Given the description of an element on the screen output the (x, y) to click on. 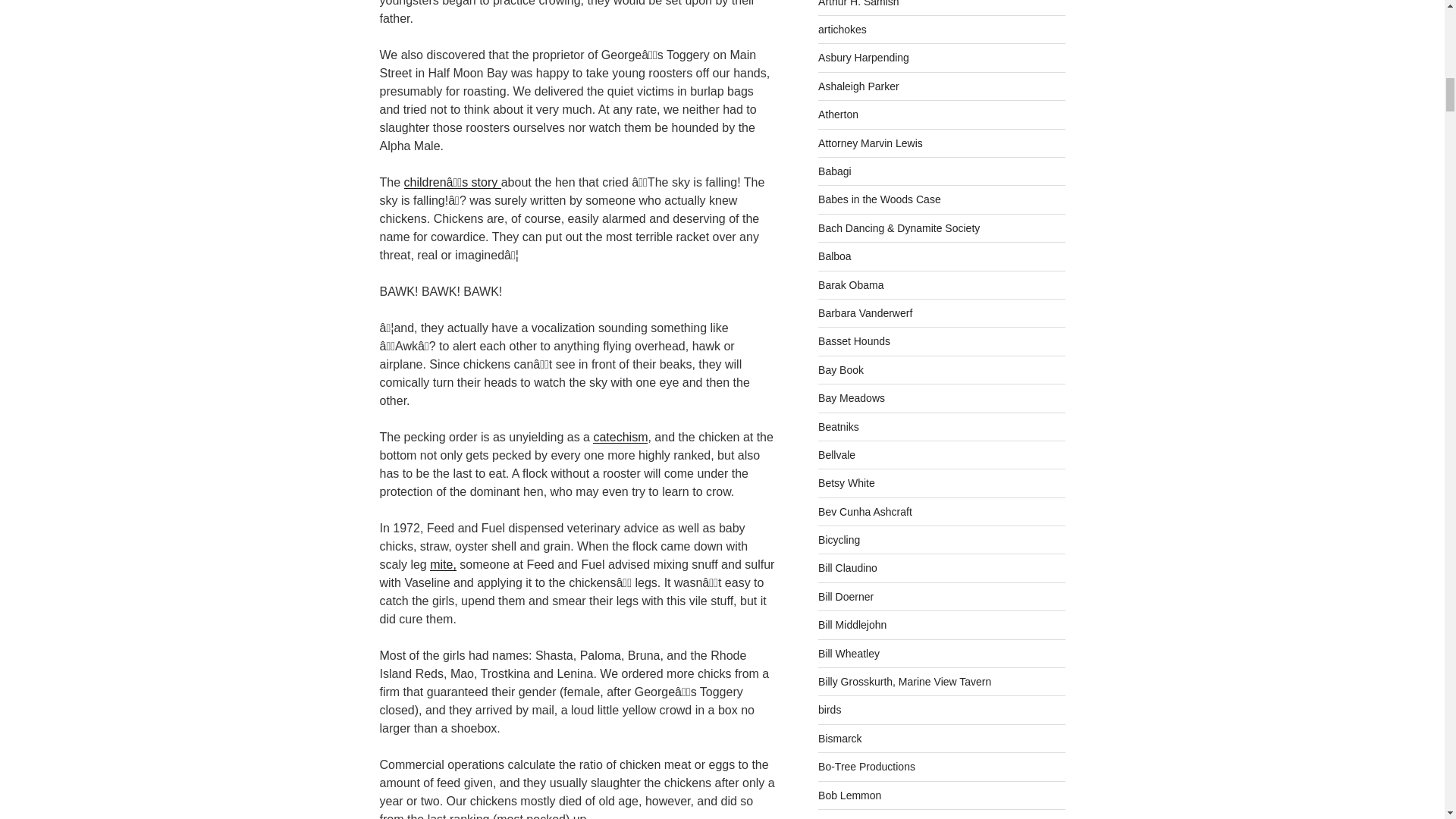
mite, (443, 563)
catechism (619, 436)
